Given the description of an element on the screen output the (x, y) to click on. 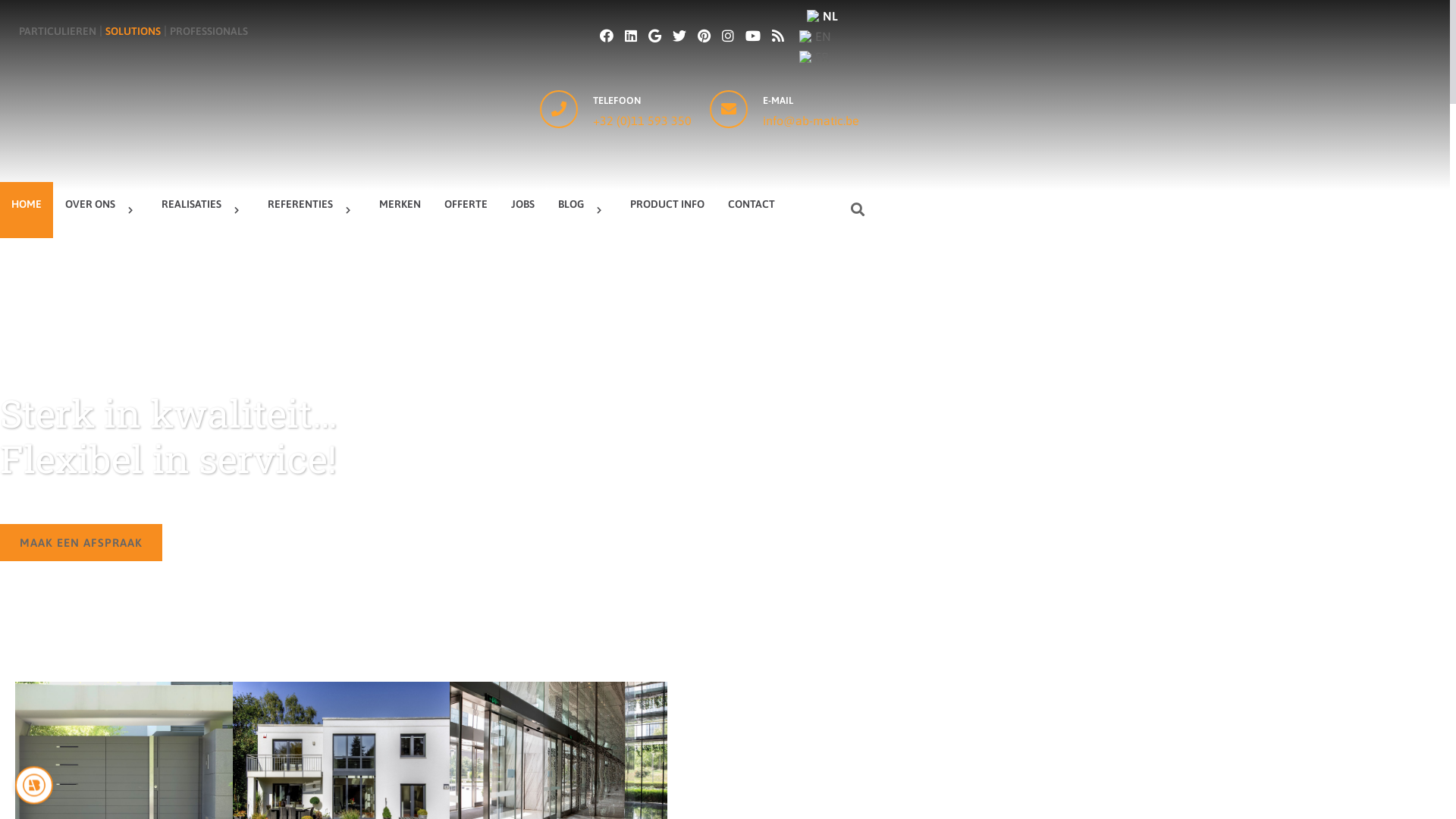
info@ab-matic.be Element type: text (810, 120)
PROFESSIONALS Element type: text (208, 31)
PRODUCT INFO Element type: text (666, 210)
MAAK EEN AFSPRAAK Element type: text (81, 542)
EN Element type: text (822, 36)
CONTACT Element type: text (751, 210)
+32 (0)11 593 350  Element type: text (643, 120)
BLOG Element type: text (582, 210)
NL Element type: text (822, 16)
PARTICULIEREN Element type: text (57, 31)
HOME Element type: text (26, 210)
REALISATIES Element type: text (202, 210)
SOLUTIONS Element type: text (132, 31)
OFFERTE Element type: text (465, 210)
FR Element type: text (822, 57)
MERKEN Element type: text (399, 210)
OVER ONS Element type: text (101, 210)
REFERENTIES Element type: text (311, 210)
JOBS Element type: text (522, 210)
